Given the description of an element on the screen output the (x, y) to click on. 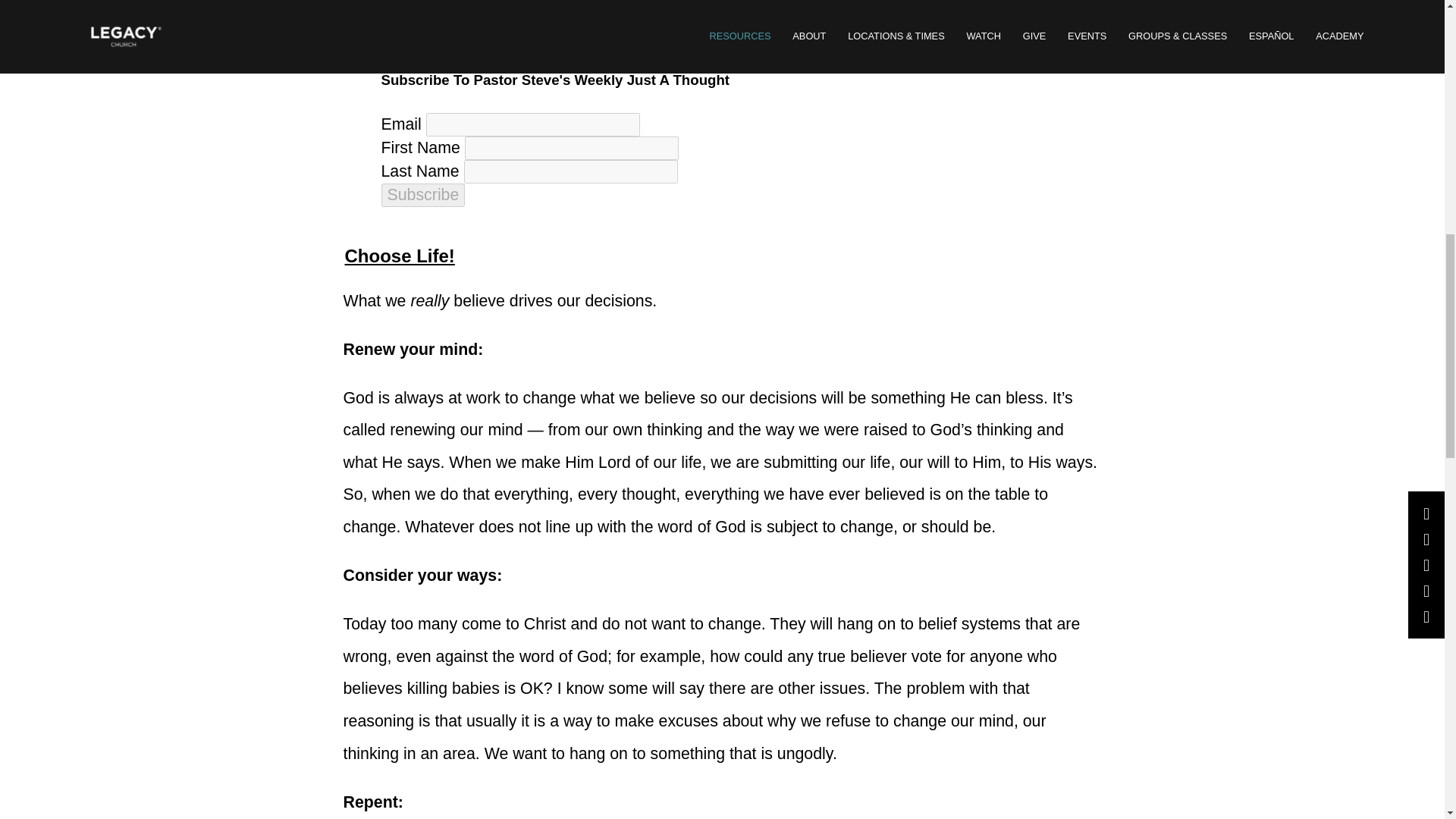
Subscribe (422, 195)
